Given the description of an element on the screen output the (x, y) to click on. 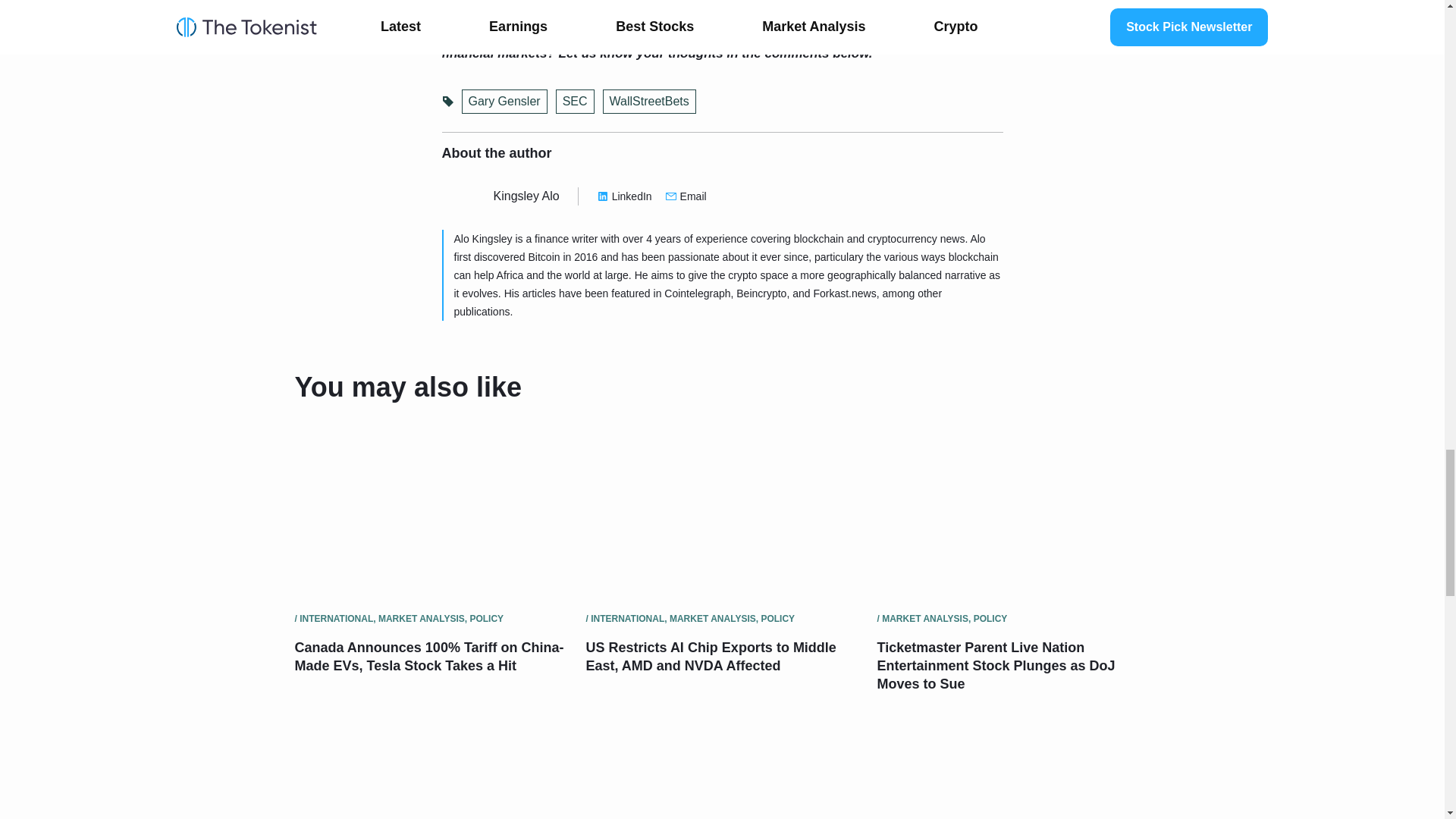
INTERNATIONAL (627, 618)
POLICY (777, 618)
MARKET ANALYSIS (421, 618)
Email (685, 196)
Kingsley Alo (526, 195)
Gary Gensler (504, 101)
WallStreetBets (648, 101)
LinkedIn (624, 196)
POLICY (485, 618)
MARKET ANALYSIS (712, 618)
